Given the description of an element on the screen output the (x, y) to click on. 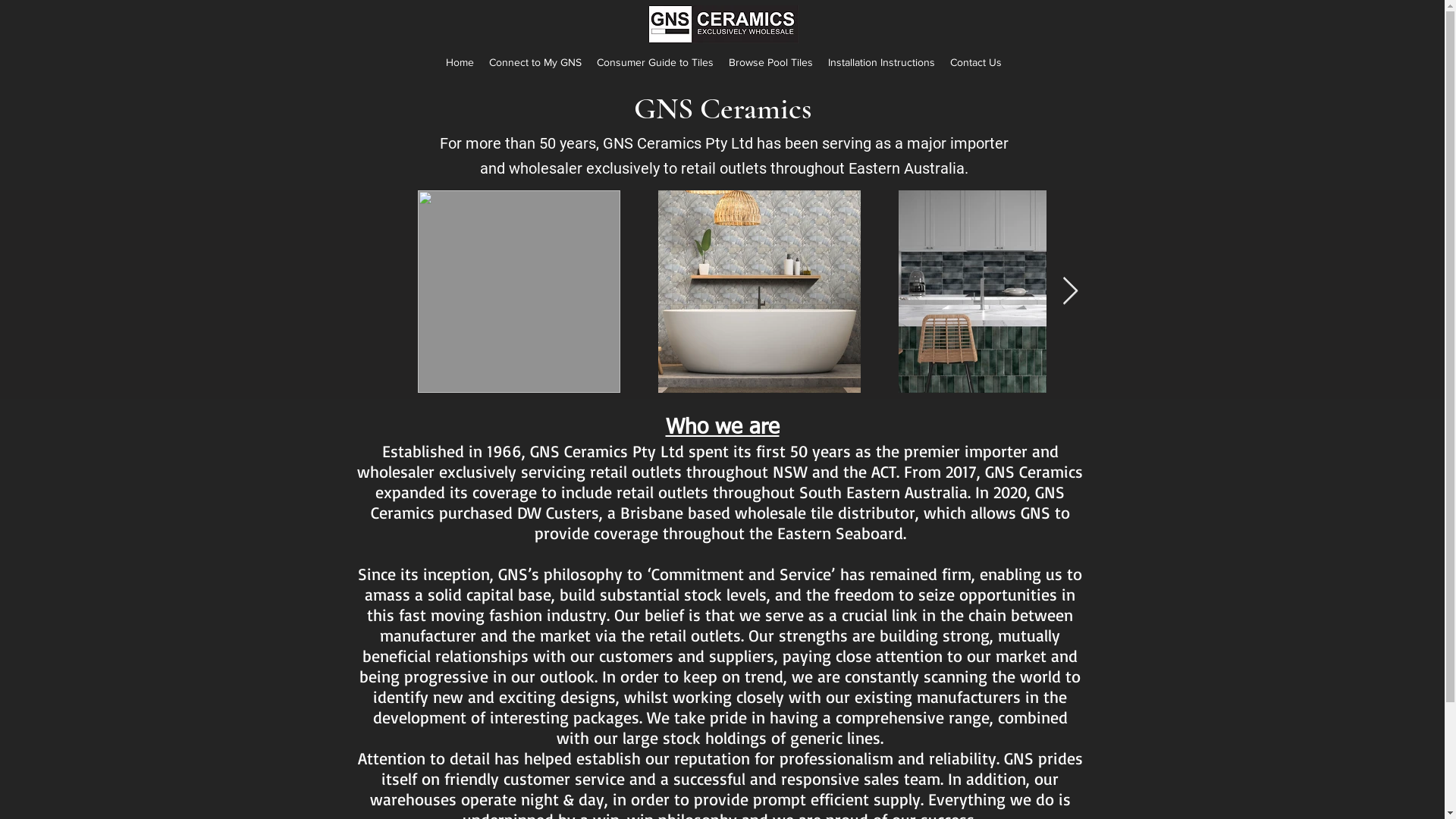
Consumer Guide to Tiles Element type: text (655, 62)
Exclusively Wholesale Element type: hover (723, 24)
Browse Pool Tiles Element type: text (770, 62)
Connect to My GNS Element type: text (535, 62)
Contact Us Element type: text (975, 62)
Home Element type: text (459, 62)
